Given the description of an element on the screen output the (x, y) to click on. 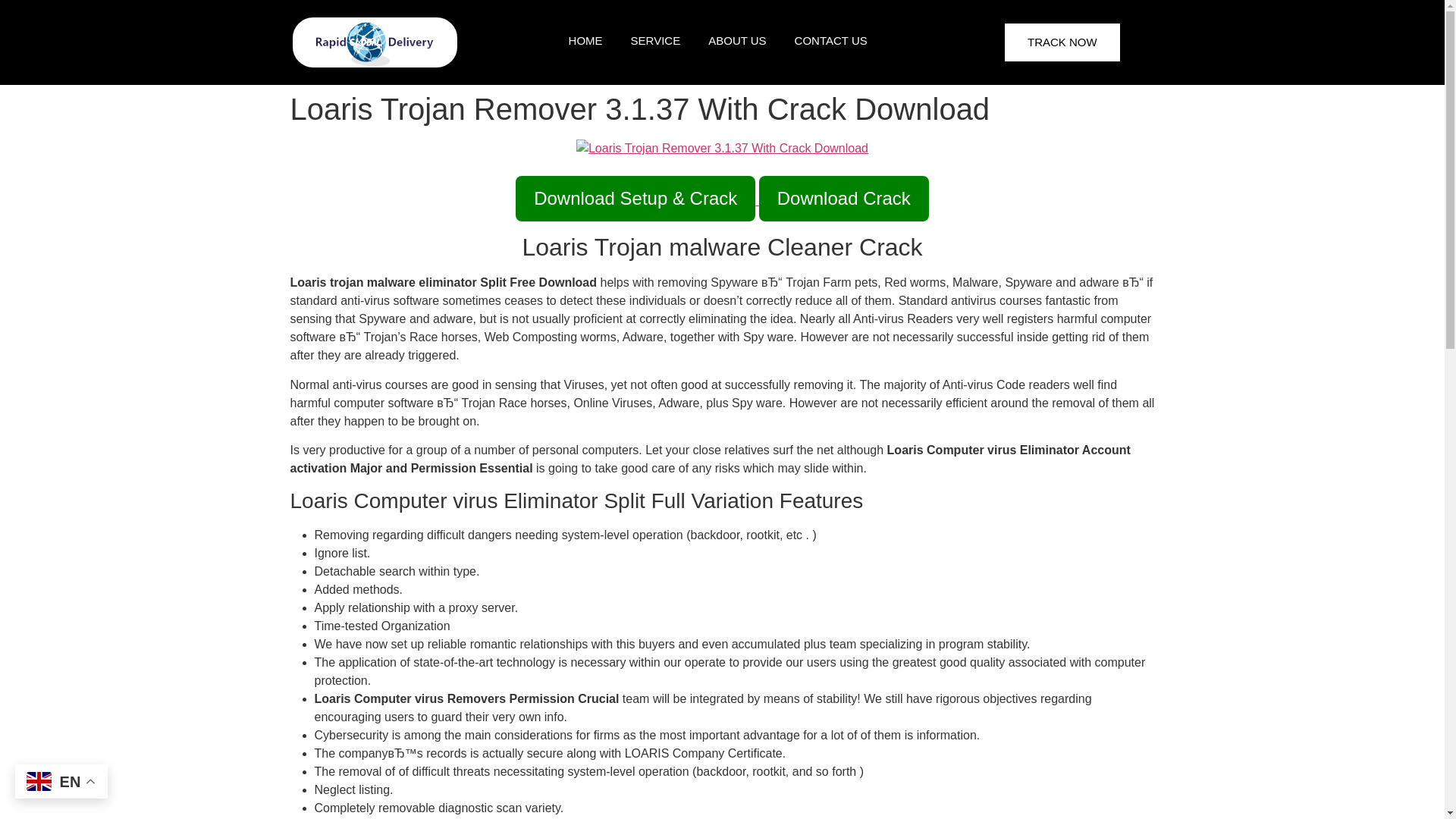
ABOUT US (737, 39)
TRACK (703, 85)
Download Crack (843, 198)
TRACK NOW (1062, 41)
PROHIBITED ITEMS (704, 122)
SERVICE (656, 39)
CONTACT US (831, 39)
HOME (593, 39)
